Given the description of an element on the screen output the (x, y) to click on. 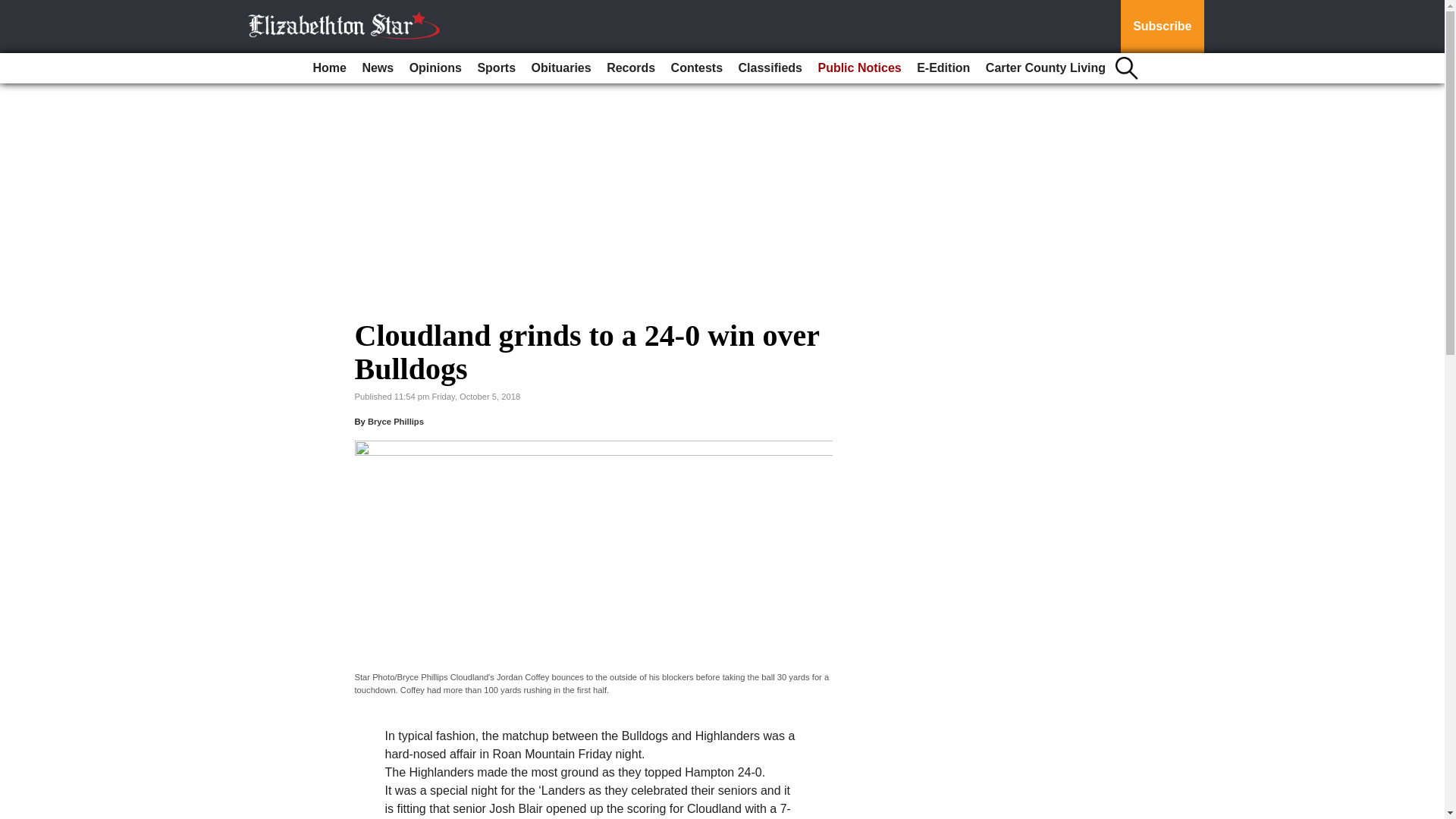
Records (630, 68)
Bryce Phillips (395, 420)
Public Notices (858, 68)
Go (13, 9)
Carter County Living (1045, 68)
Home (328, 68)
News (376, 68)
Sports (495, 68)
Contests (697, 68)
E-Edition (943, 68)
Opinions (435, 68)
Classifieds (770, 68)
Subscribe (1162, 26)
Obituaries (560, 68)
